Given the description of an element on the screen output the (x, y) to click on. 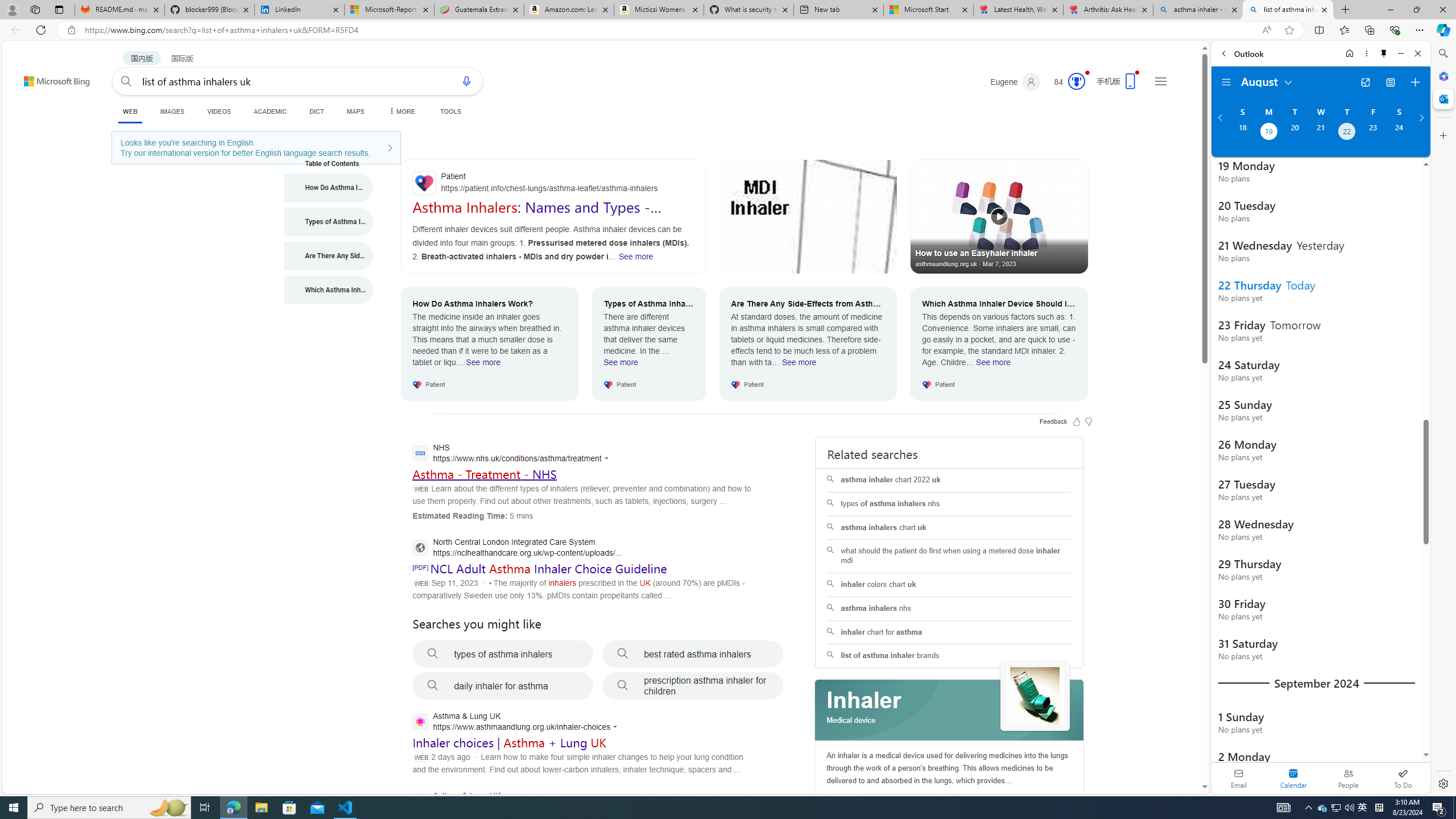
August (1267, 80)
inhaler chart for asthma (949, 632)
LinkedIn (298, 9)
Saturday, August 24, 2024.  (1399, 132)
Unpin side pane (1383, 53)
Which Asthma Inhaler Device Should I use? (328, 290)
Are There Any Side-Effects from Asthma Inhalers? (328, 255)
